Given the description of an element on the screen output the (x, y) to click on. 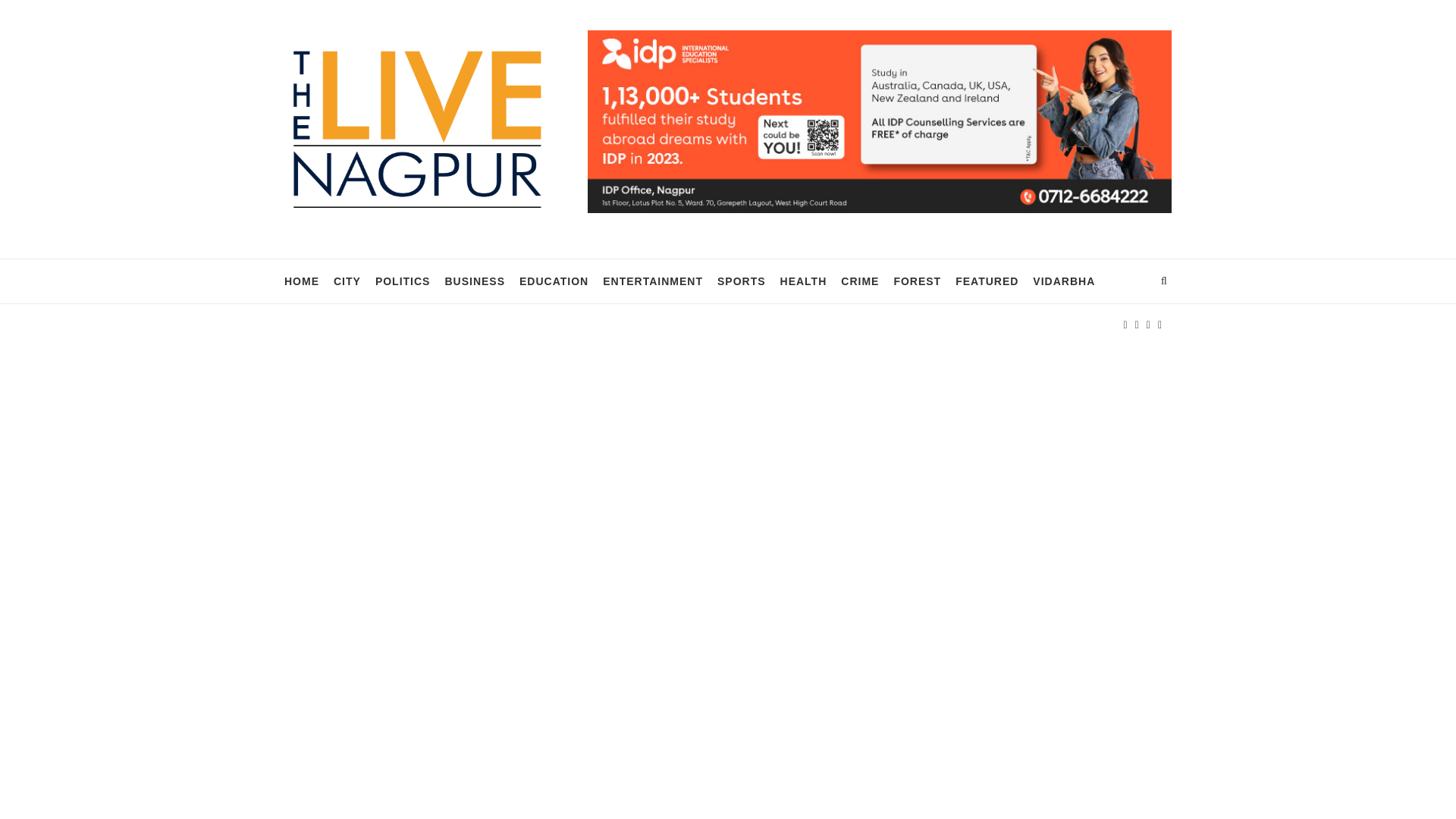
BUSINESS (474, 281)
FOREST (916, 281)
EDUCATION (553, 281)
POLITICS (402, 281)
VIDARBHA (1063, 281)
HEALTH (803, 281)
SPORTS (741, 281)
FEATURED (986, 281)
ENTERTAINMENT (652, 281)
